Given the description of an element on the screen output the (x, y) to click on. 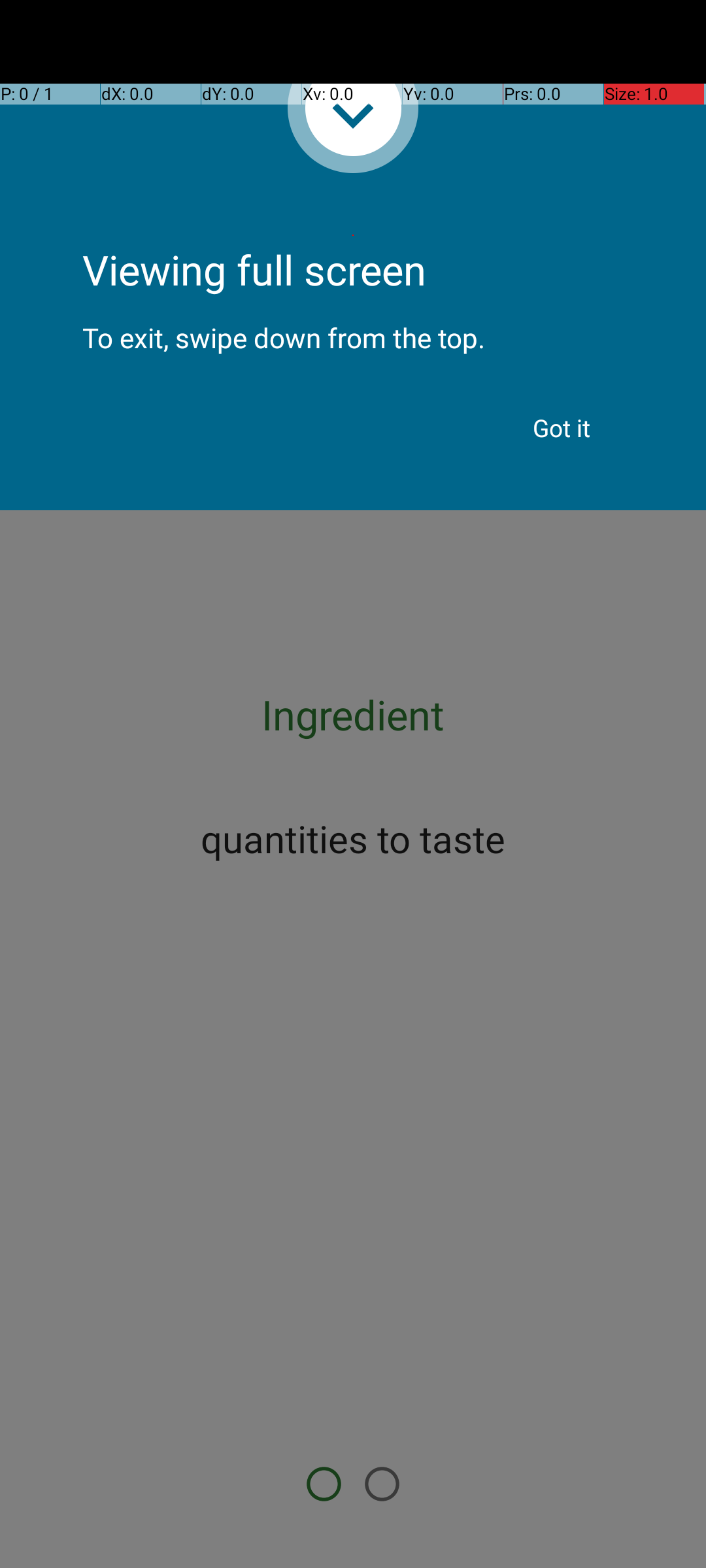
Viewing full screen Element type: android.widget.TextView (353, 235)
To exit, swipe down from the top. Element type: android.widget.TextView (353, 326)
Got it Element type: android.widget.Button (561, 427)
